Given the description of an element on the screen output the (x, y) to click on. 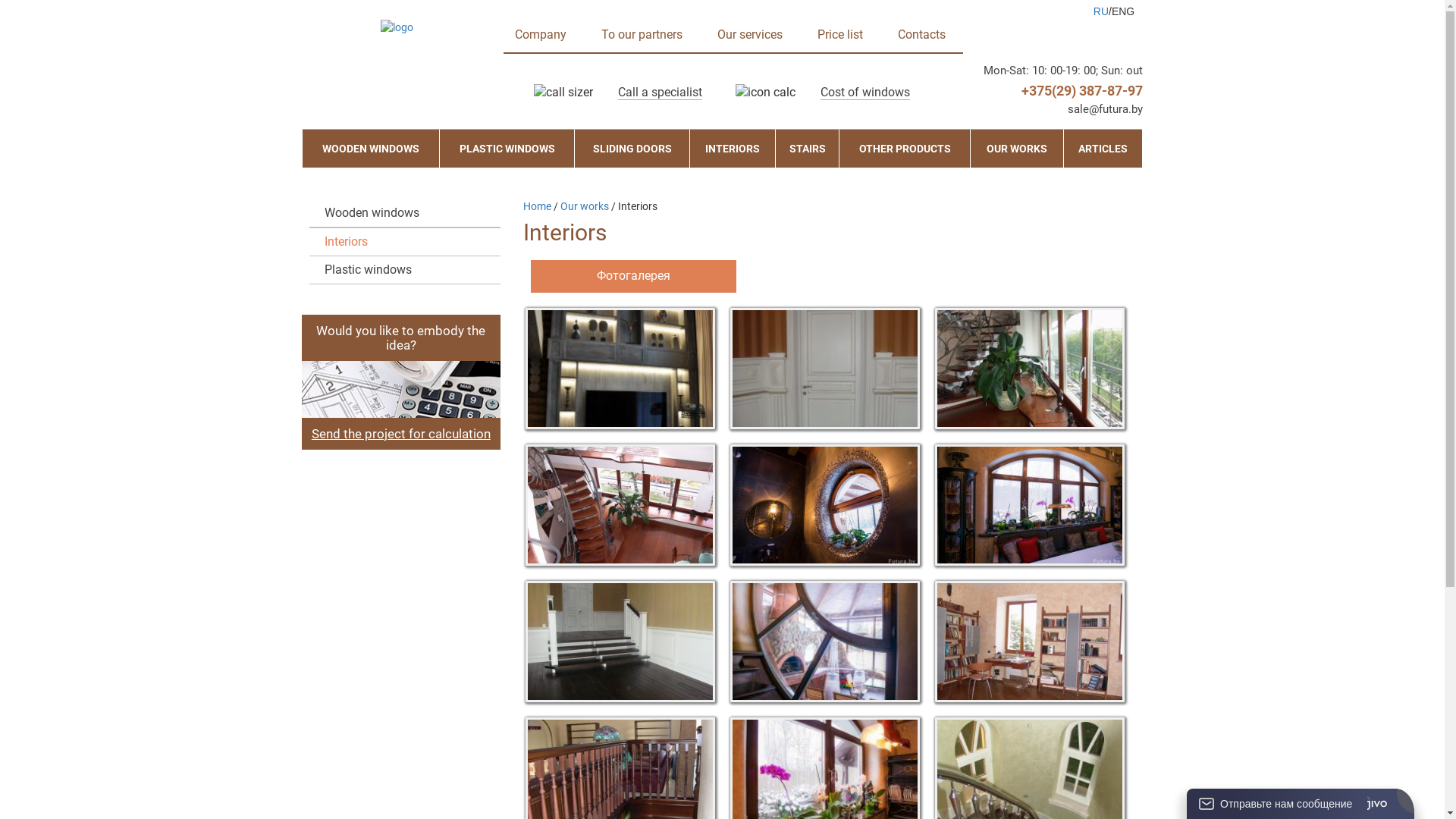
Price list Element type: text (840, 34)
SLIDING DOORS Element type: text (631, 148)
OTHER PRODUCTS Element type: text (904, 148)
OUR WORKS Element type: text (1016, 148)
ARTICLES Element type: text (1102, 148)
Company Element type: text (540, 34)
INTERIORS Element type: text (732, 148)
To our partners Element type: text (641, 34)
STAIRS Element type: text (806, 148)
PLASTIC WINDOWS Element type: text (506, 148)
WOODEN WINDOWS Element type: text (369, 148)
Wooden windows Element type: text (410, 212)
Our works Element type: text (584, 206)
RU Element type: text (1100, 11)
Our services Element type: text (749, 34)
Contacts Element type: text (921, 34)
Home Element type: text (537, 206)
Interiors Element type: text (410, 241)
Send the project for calculation Element type: text (400, 433)
Plastic windows Element type: text (410, 269)
Cost of windows Element type: text (865, 92)
Call a specialist Element type: text (660, 92)
